Given the description of an element on the screen output the (x, y) to click on. 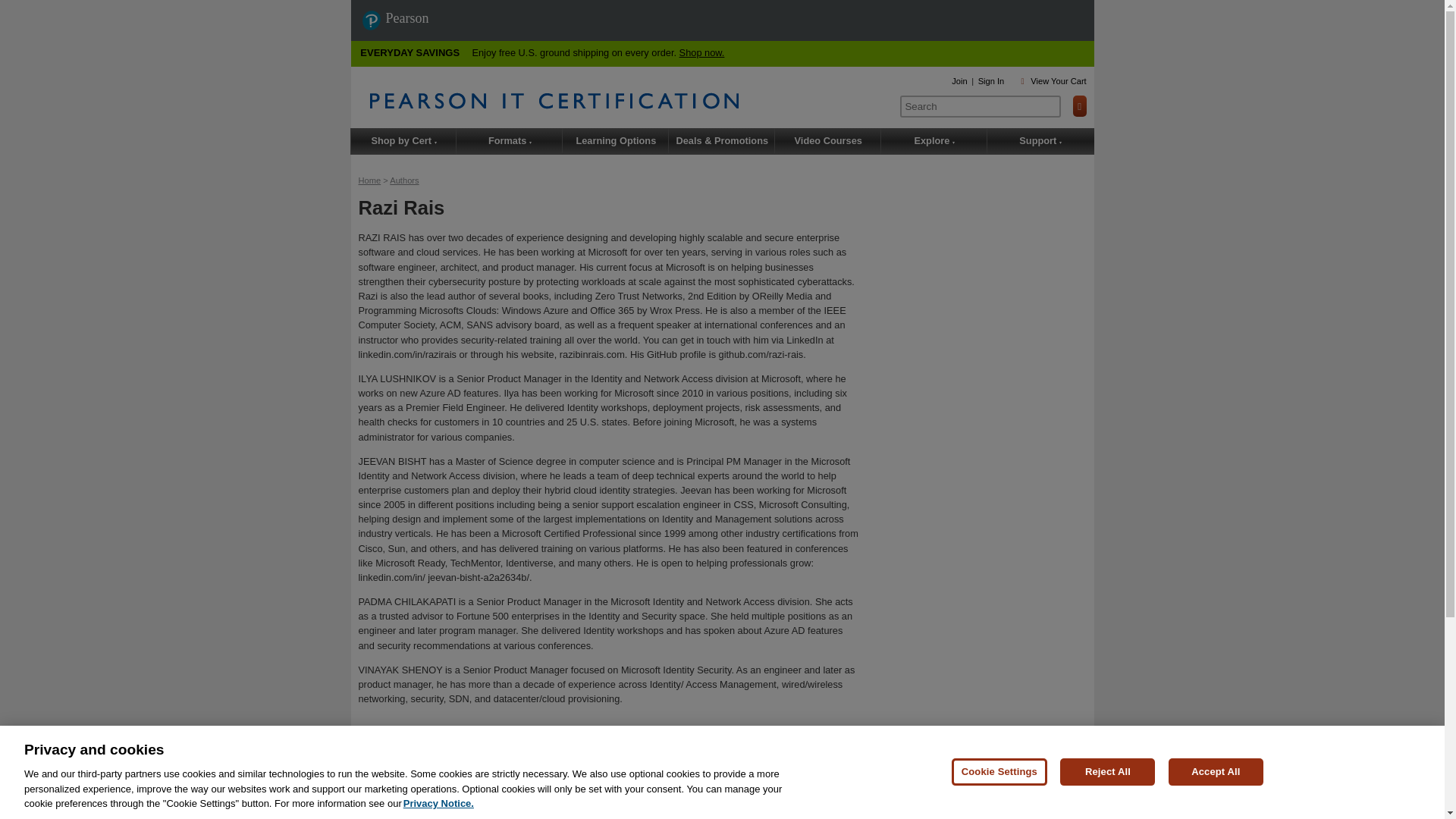
Join (959, 80)
Padma Chilakapati (623, 784)
Vinayak Shenoy (696, 784)
Jeevan Bisht (555, 784)
Home (369, 180)
Ilya Lushnikov (499, 784)
Razi Rais (448, 784)
Shop now. (702, 52)
Exam Ref SC-300 Microsoft Identity and Access Administrator (559, 770)
Authors (404, 180)
Home (629, 100)
Products (386, 745)
Sign In (991, 80)
View Your Cart (1058, 80)
